Given the description of an element on the screen output the (x, y) to click on. 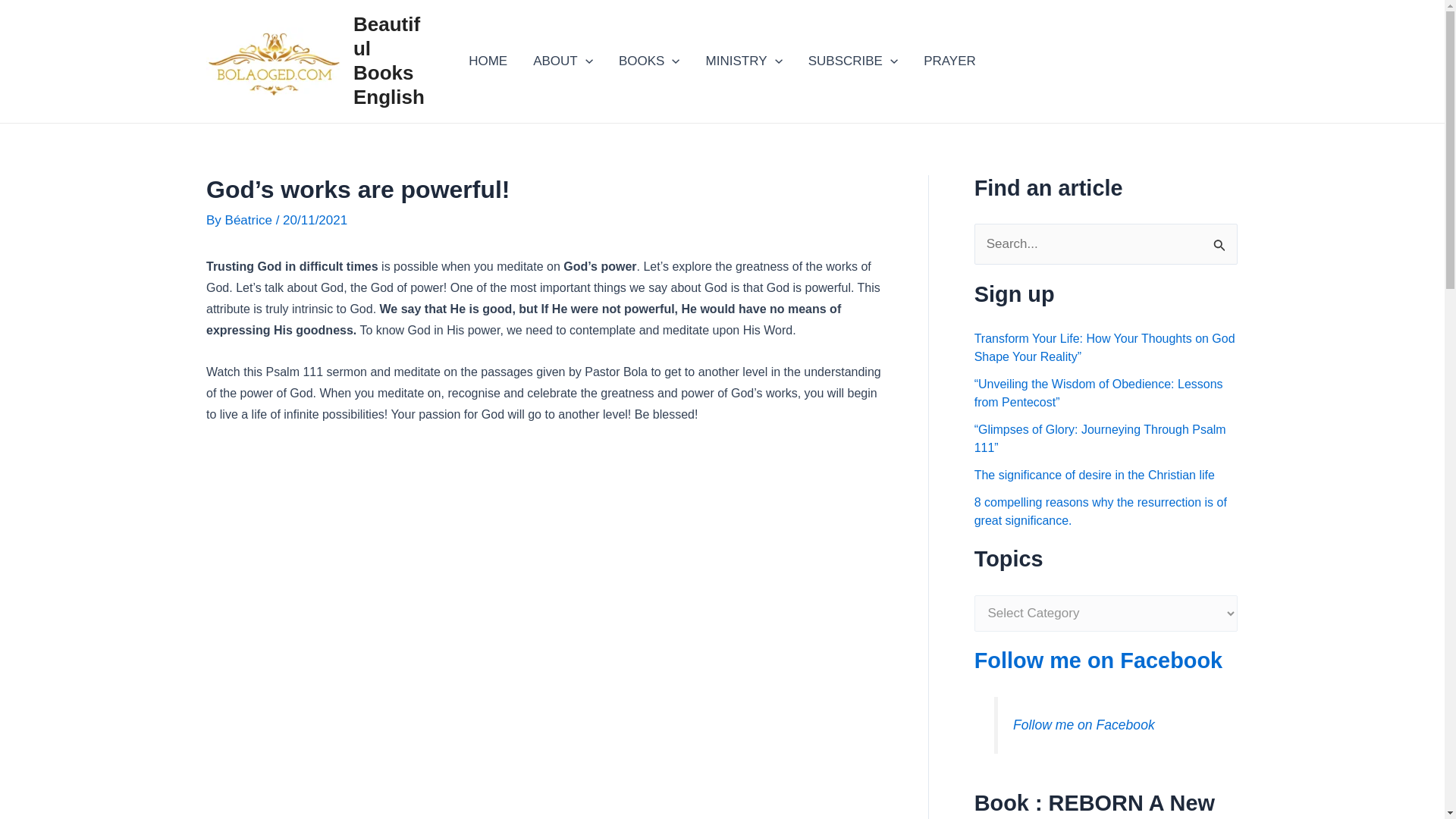
SUBSCRIBE (852, 61)
MINISTRY (743, 61)
Search (1220, 239)
MINISTRY (743, 61)
BOOKS (649, 61)
HOME (487, 61)
Search (1220, 239)
ABOUT (562, 61)
